Given the description of an element on the screen output the (x, y) to click on. 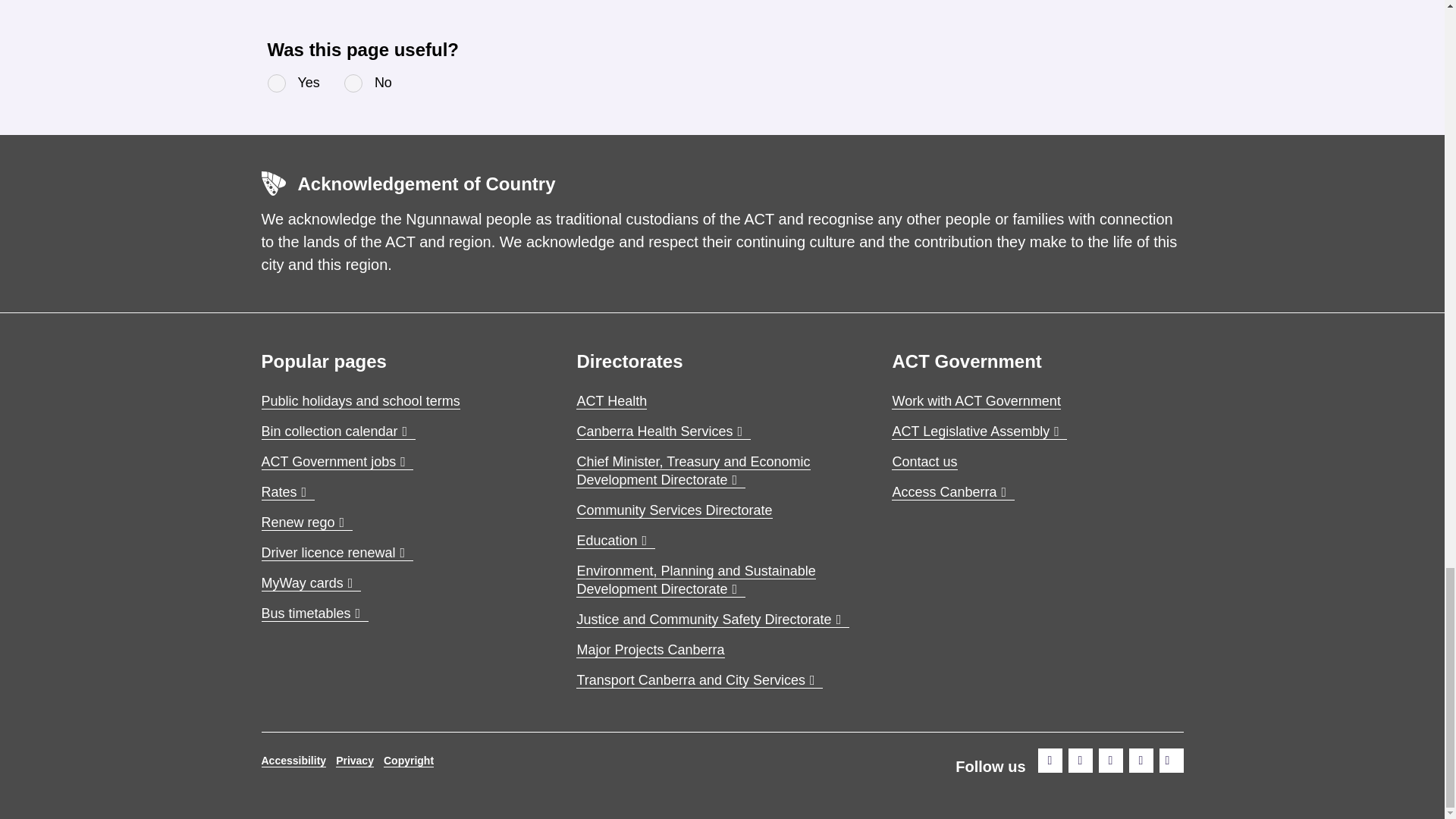
on (352, 83)
Link to Privacy (355, 760)
Link to Copyright (408, 760)
on (275, 83)
Link to Accessibility (293, 760)
